Given the description of an element on the screen output the (x, y) to click on. 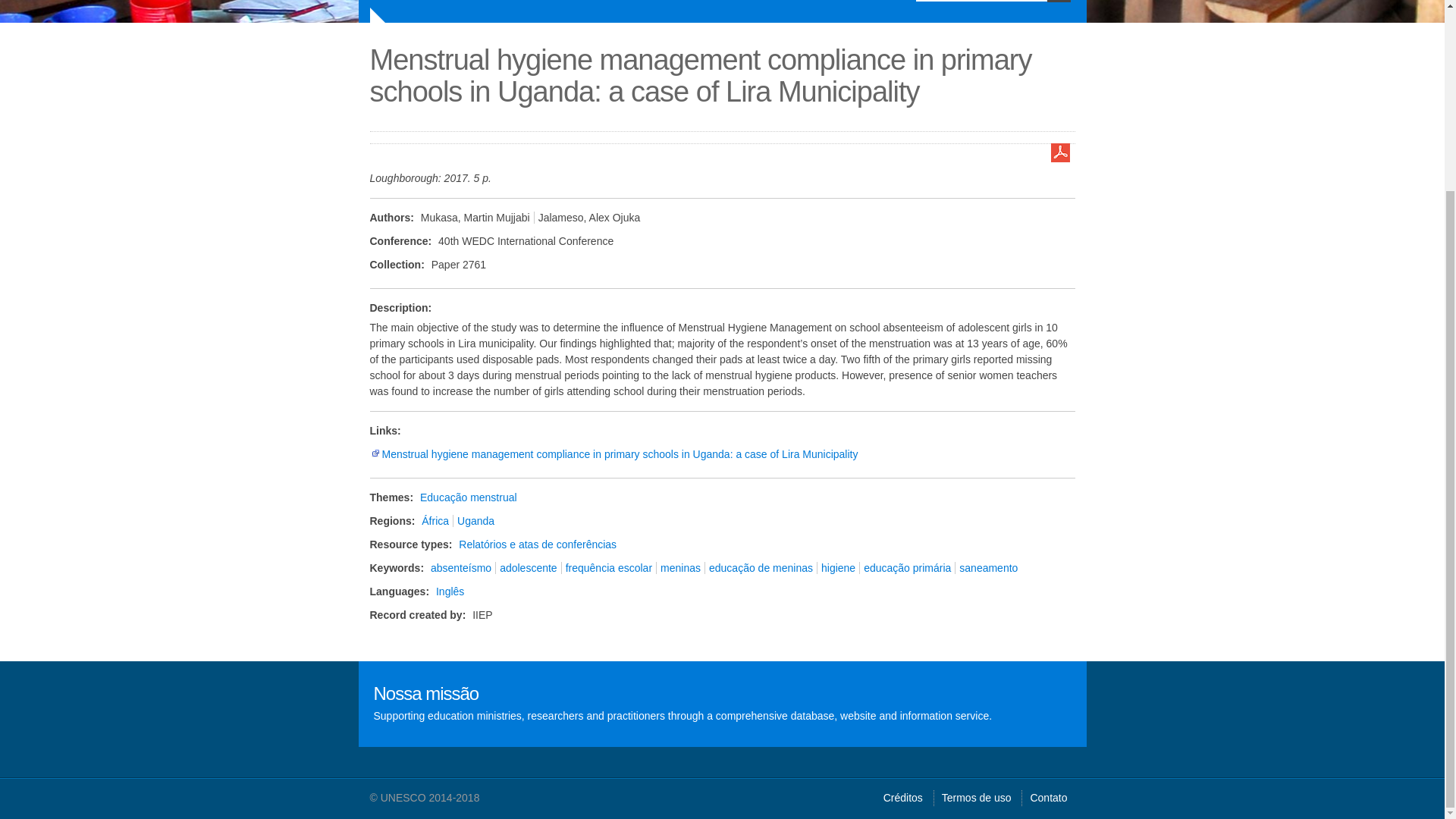
External link (375, 453)
Uganda (476, 521)
